Given the description of an element on the screen output the (x, y) to click on. 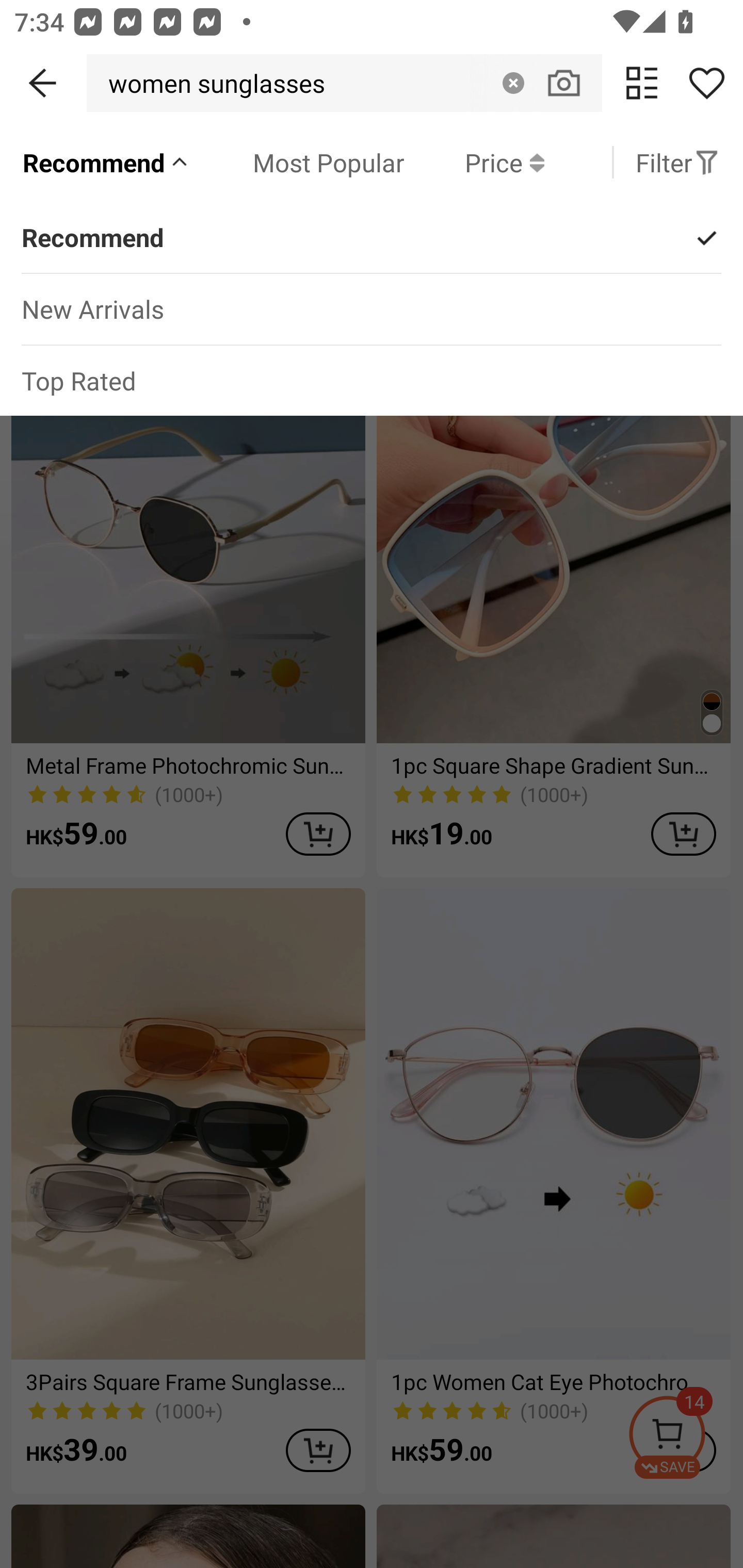
women sunglasses Clear (343, 82)
women sunglasses (210, 82)
Clear (513, 82)
change view (641, 82)
Share (706, 82)
Recommend (106, 162)
Most Popular (297, 162)
Price (474, 162)
Filter (677, 162)
